Given the description of an element on the screen output the (x, y) to click on. 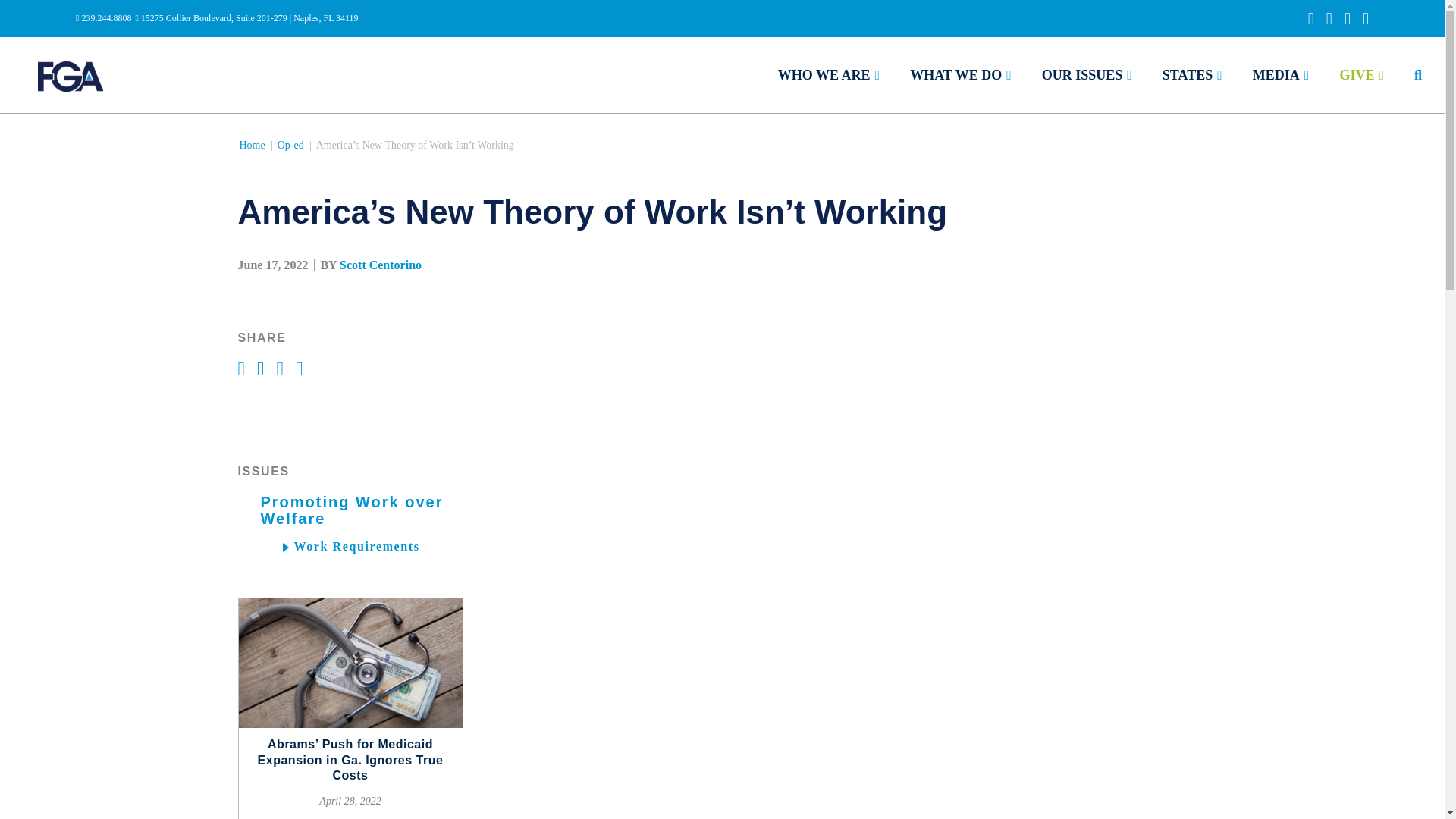
WHO WE ARE (828, 74)
Go to The Foundation for Government Accountability. (252, 144)
WHAT WE DO (960, 74)
Go to Op-ed. (291, 144)
OUR ISSUES (1086, 74)
239.244.8808 (103, 18)
